Given the description of an element on the screen output the (x, y) to click on. 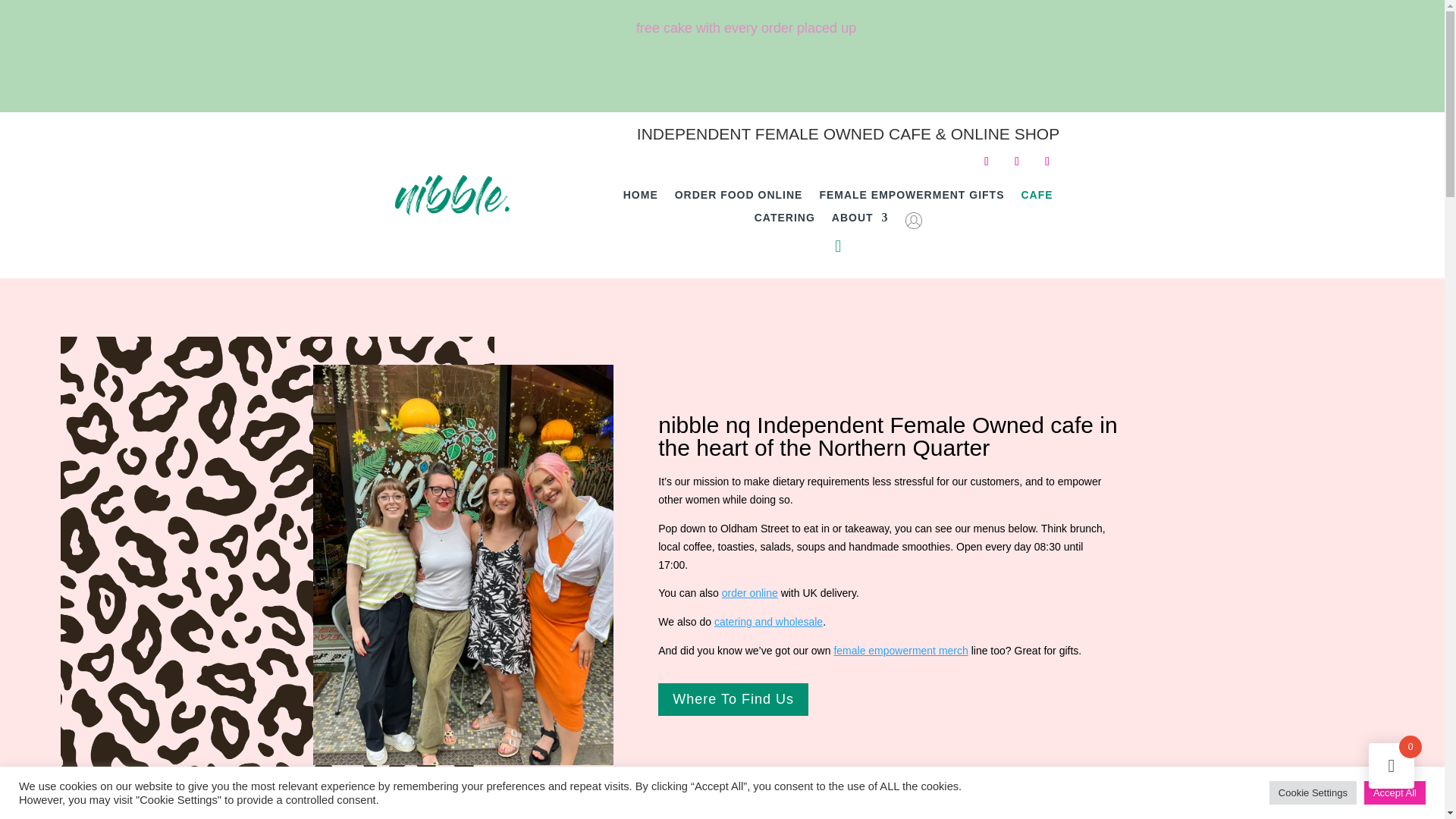
CAFE (1036, 197)
CATERING (784, 224)
catering and wholesale (768, 621)
FEMALE EMPOWERMENT GIFTS (911, 197)
HOME (640, 197)
order online (749, 592)
ABOUT (859, 224)
ORDER FOOD ONLINE (739, 197)
Nibble-logo-small-green (452, 194)
Follow on X (1047, 161)
